Given the description of an element on the screen output the (x, y) to click on. 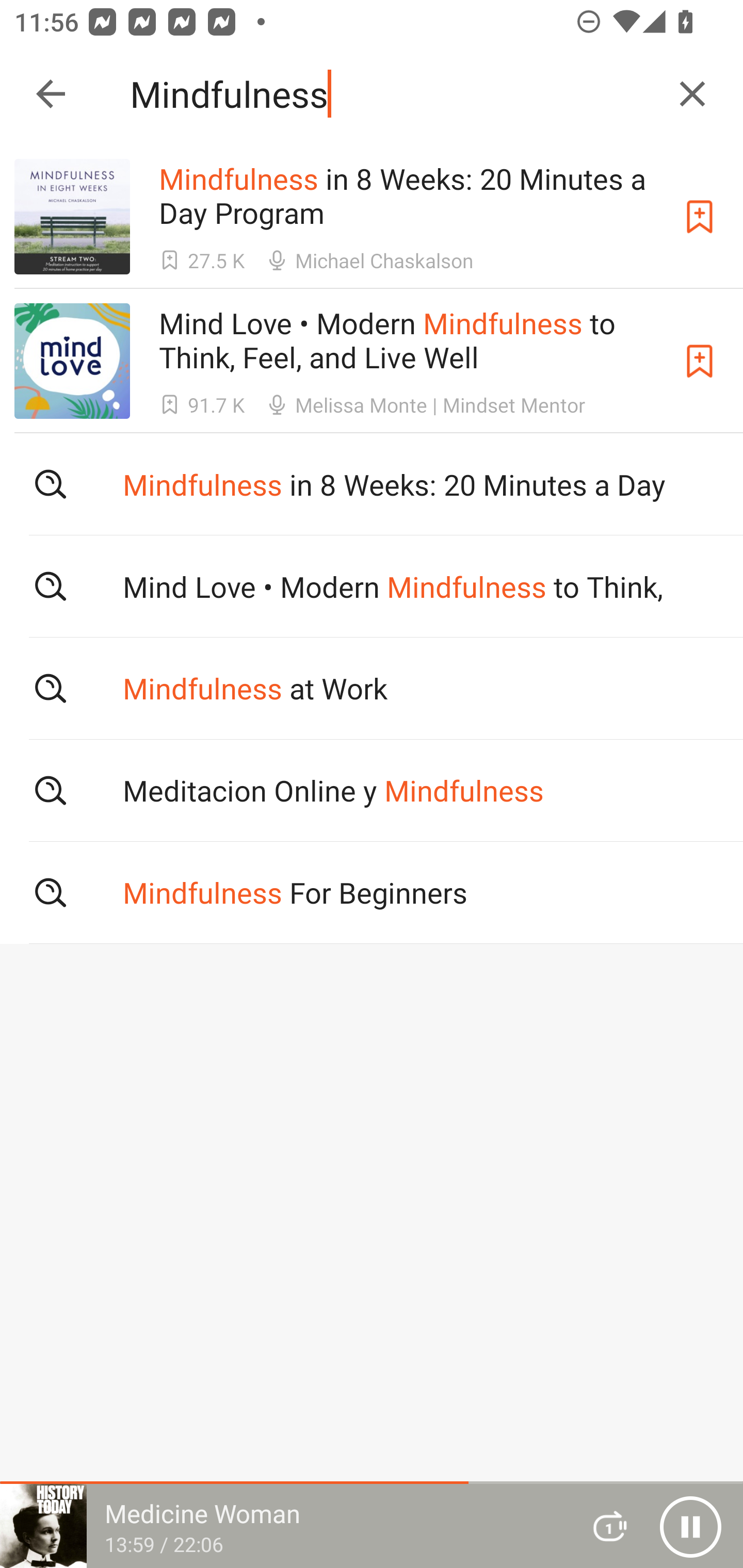
Collapse (50, 93)
Clear query (692, 93)
Mindfulness (393, 94)
Subscribe (699, 216)
Subscribe (699, 360)
 Mindfulness in 8 Weeks: 20 Minutes a Day Program (371, 483)
 Mindfulness at Work (371, 688)
 Meditacion Online y Mindfulness (371, 791)
 Mindfulness For Beginners (371, 892)
Medicine Woman 13:59 / 22:06 (283, 1525)
Pause (690, 1526)
